Given the description of an element on the screen output the (x, y) to click on. 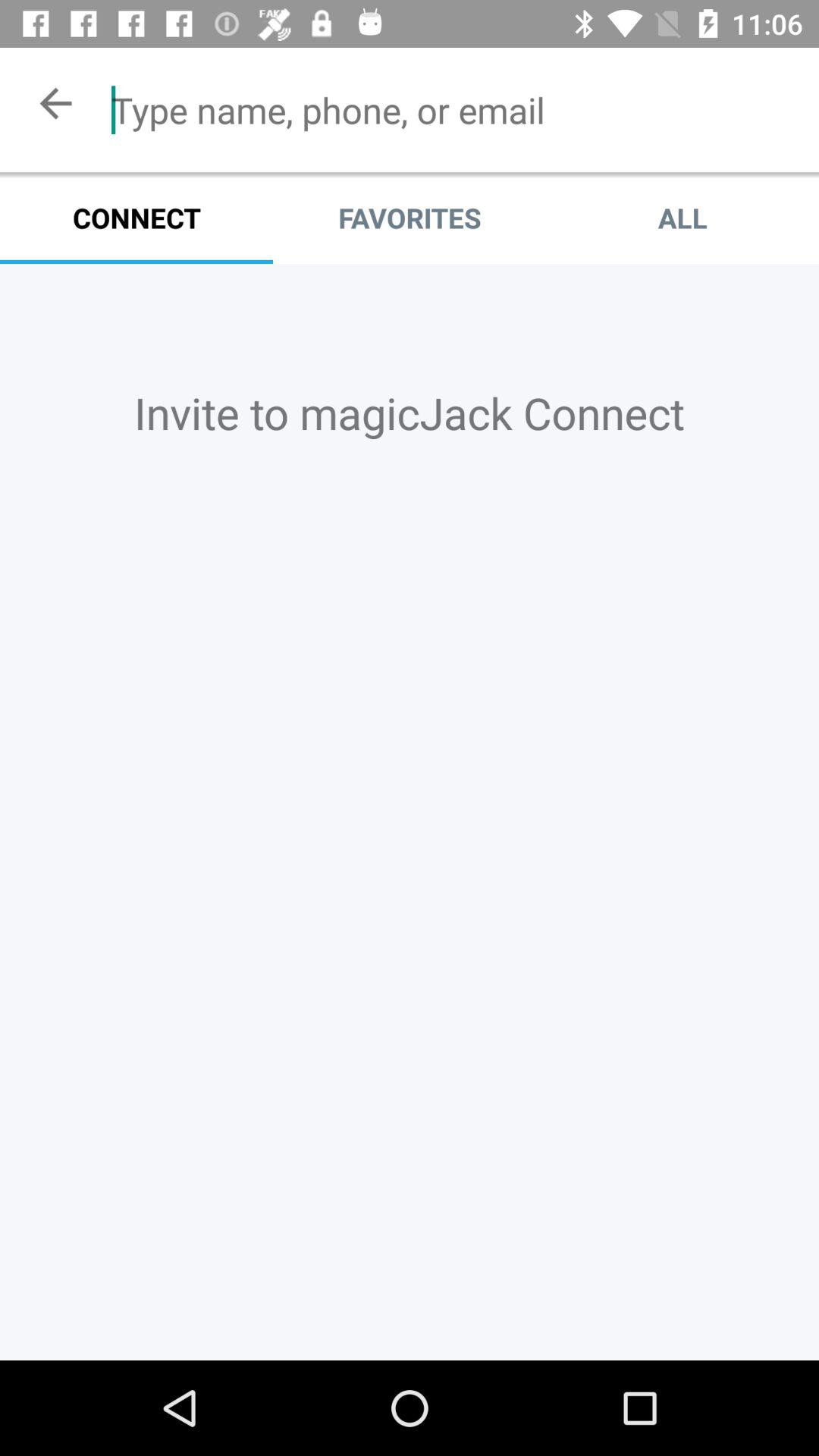
turn off icon below connect (409, 412)
